Given the description of an element on the screen output the (x, y) to click on. 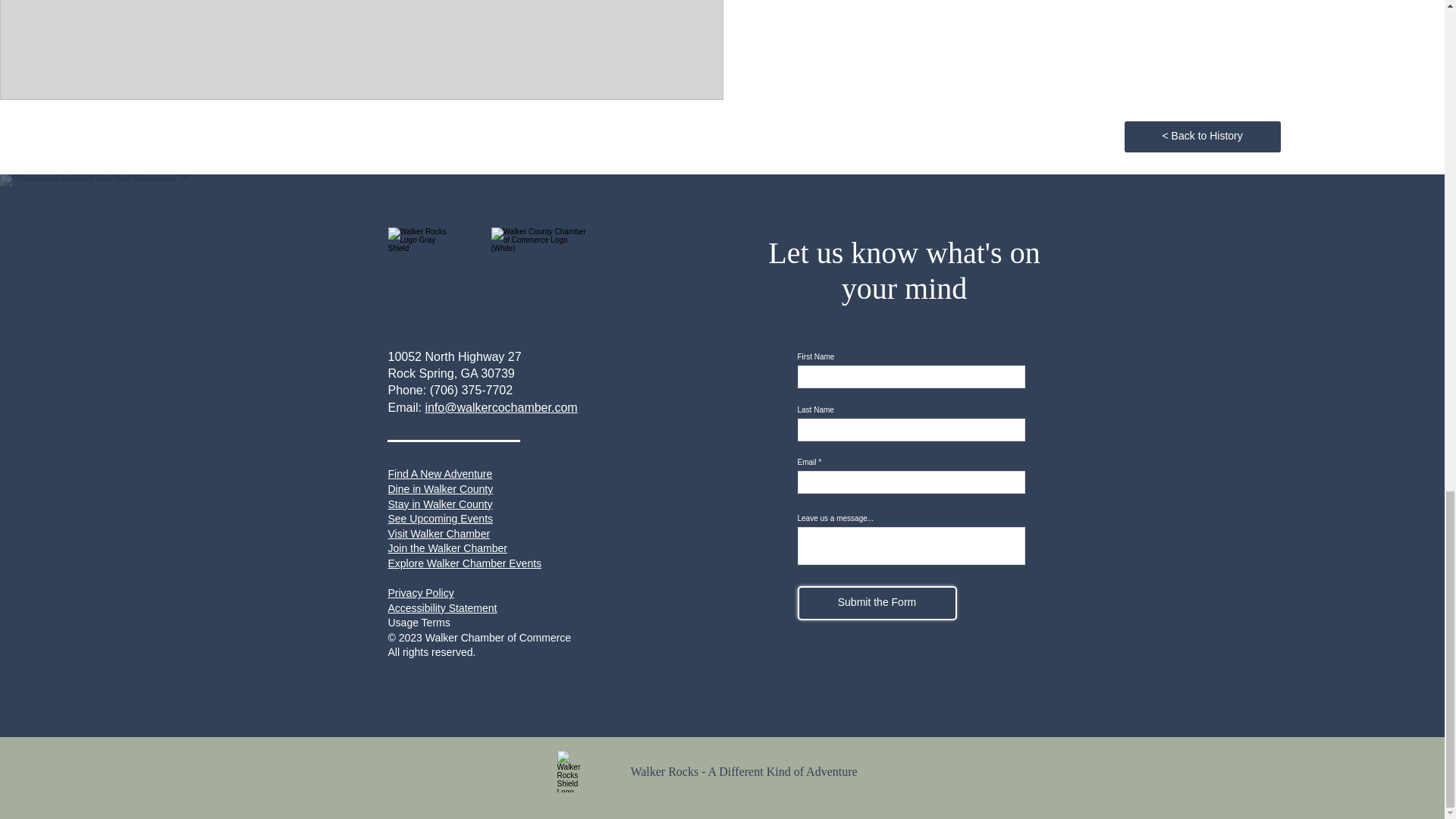
Accessibility Statement (442, 607)
See Upcoming Events (440, 518)
Explore Walker Chamber Events (464, 563)
Join the Walker Chamber (447, 548)
Privacy Policy (421, 592)
Find A New Adventure (440, 473)
Visit Walker Chamber (439, 533)
Stay in Walker County (440, 503)
Dine in Walker County (440, 489)
Submit the Form (876, 602)
